Given the description of an element on the screen output the (x, y) to click on. 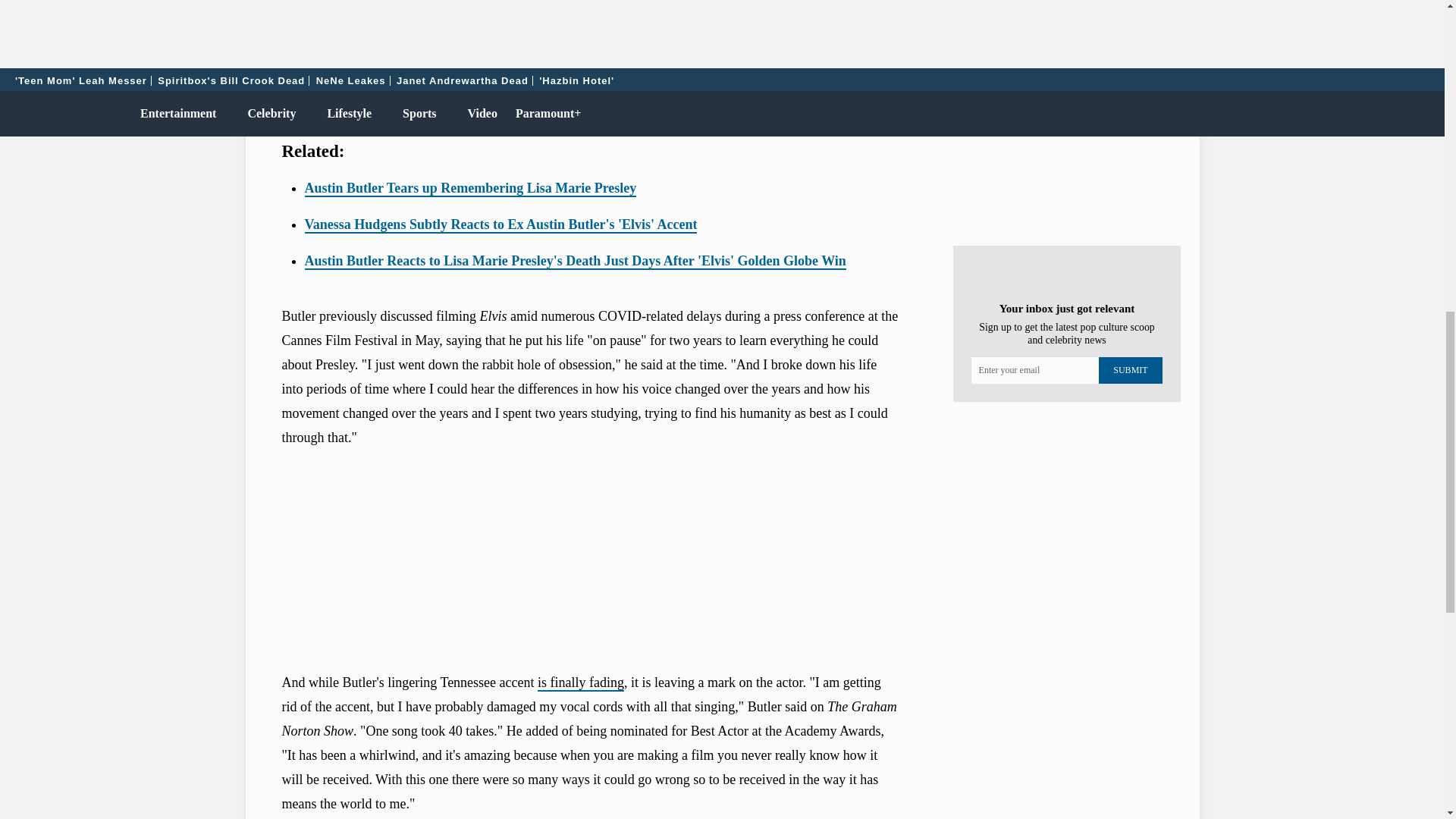
submit (1130, 370)
